Given the description of an element on the screen output the (x, y) to click on. 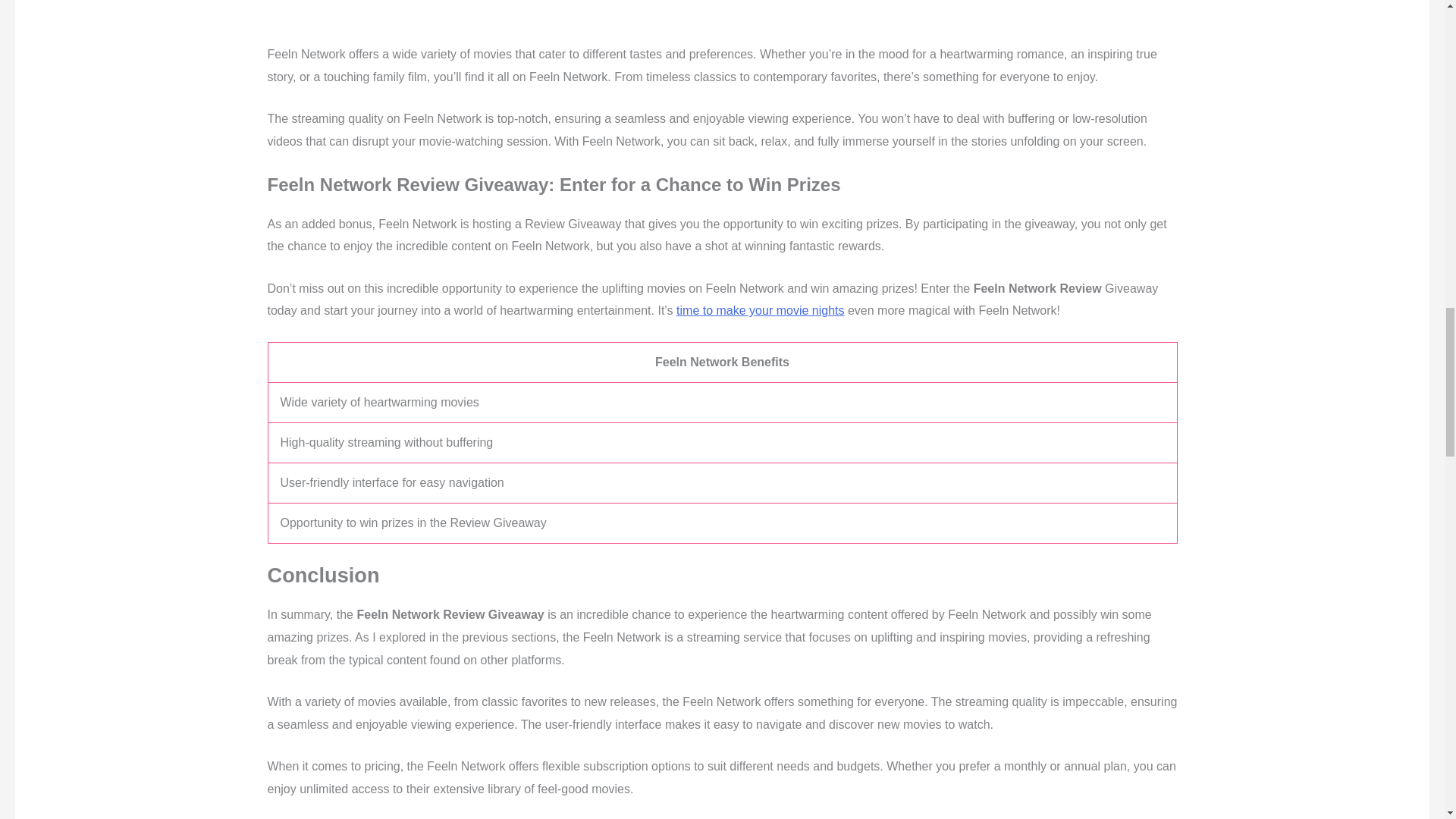
time to make your movie nights (760, 309)
